Given the description of an element on the screen output the (x, y) to click on. 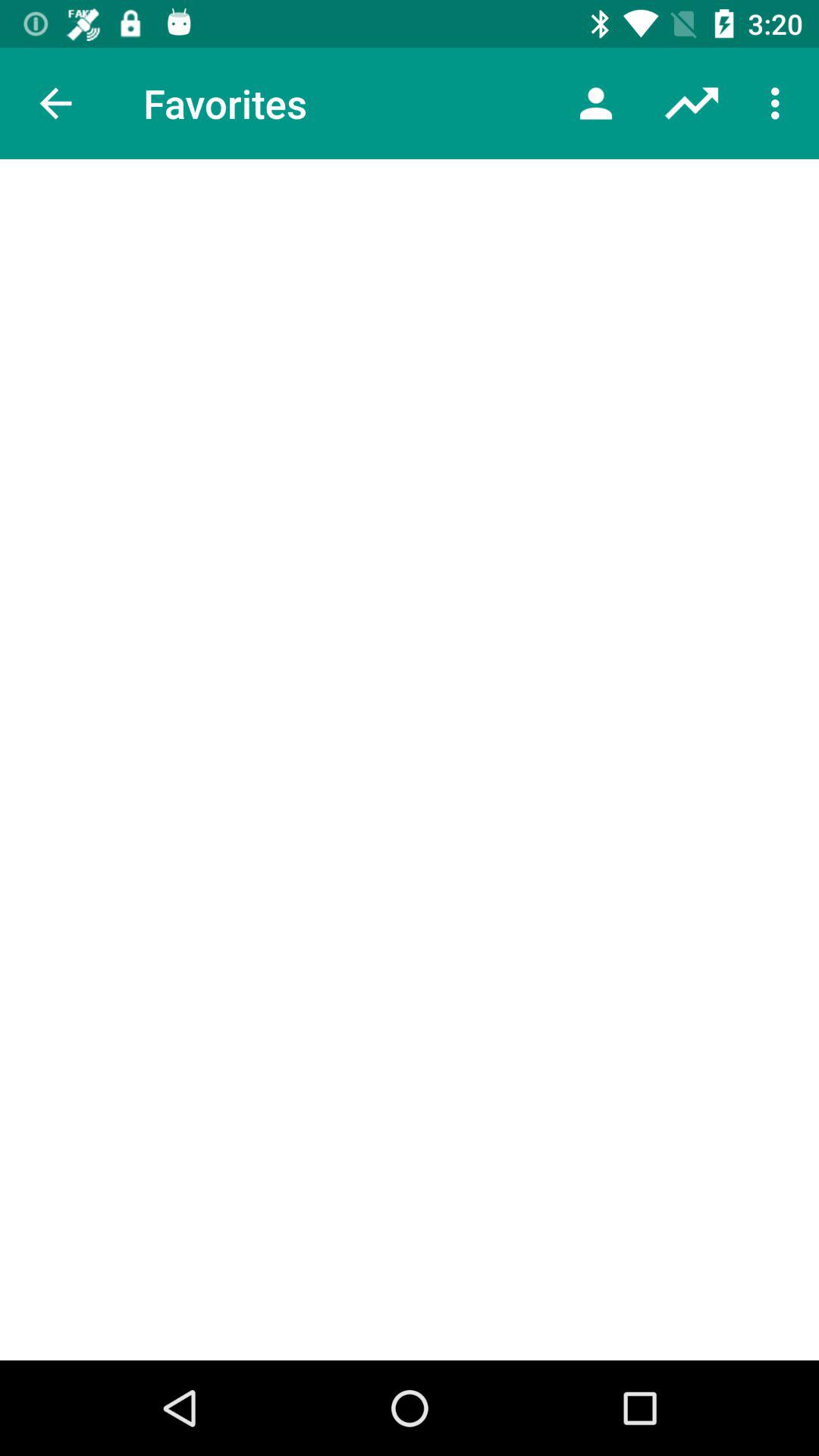
open the icon to the right of the favorites item (595, 103)
